Given the description of an element on the screen output the (x, y) to click on. 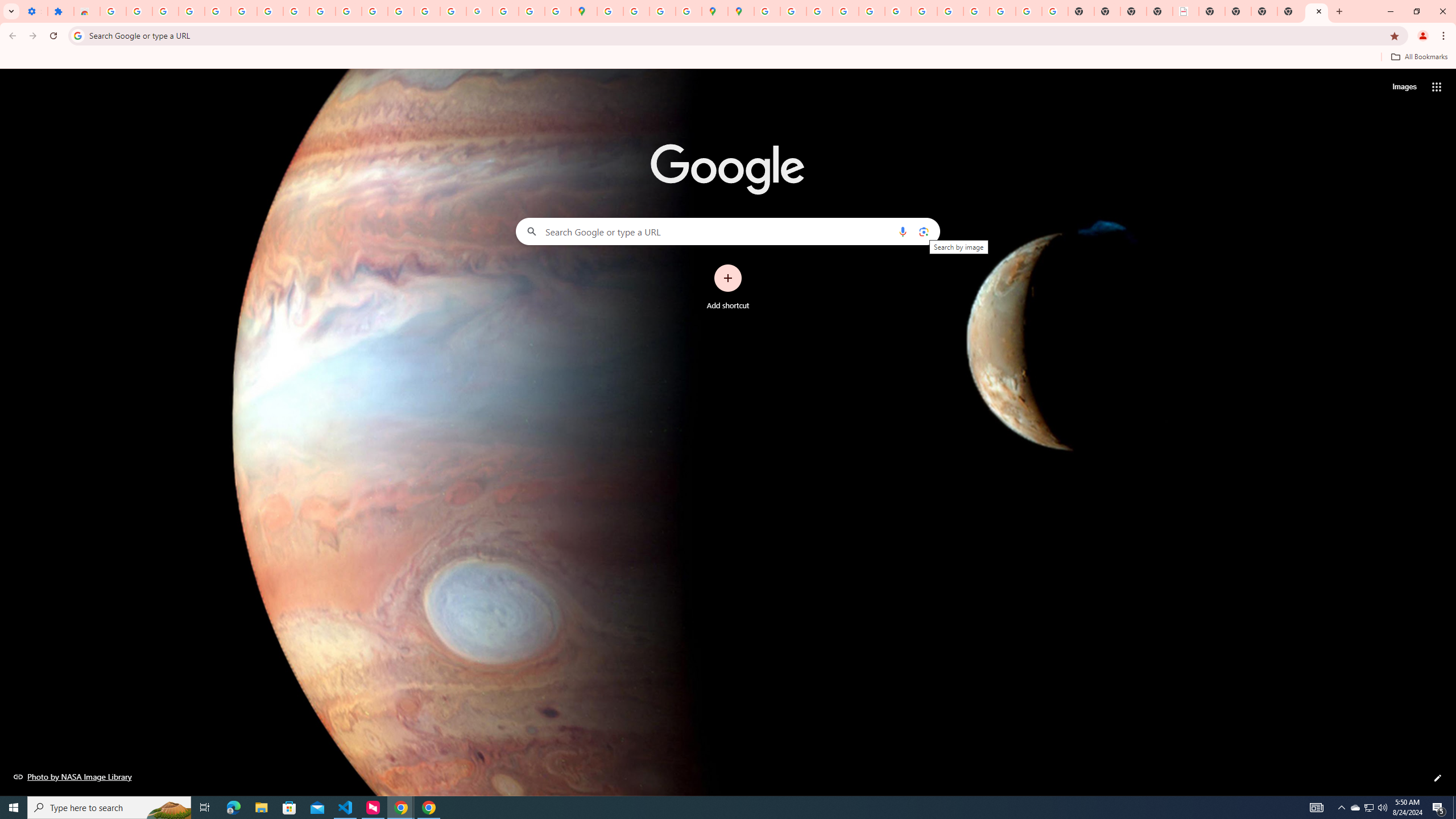
YouTube (322, 11)
New Tab (1290, 11)
Customize this page (1437, 778)
Sign in - Google Accounts (112, 11)
Privacy Help Center - Policies Help (818, 11)
Google Maps (584, 11)
